Given the description of an element on the screen output the (x, y) to click on. 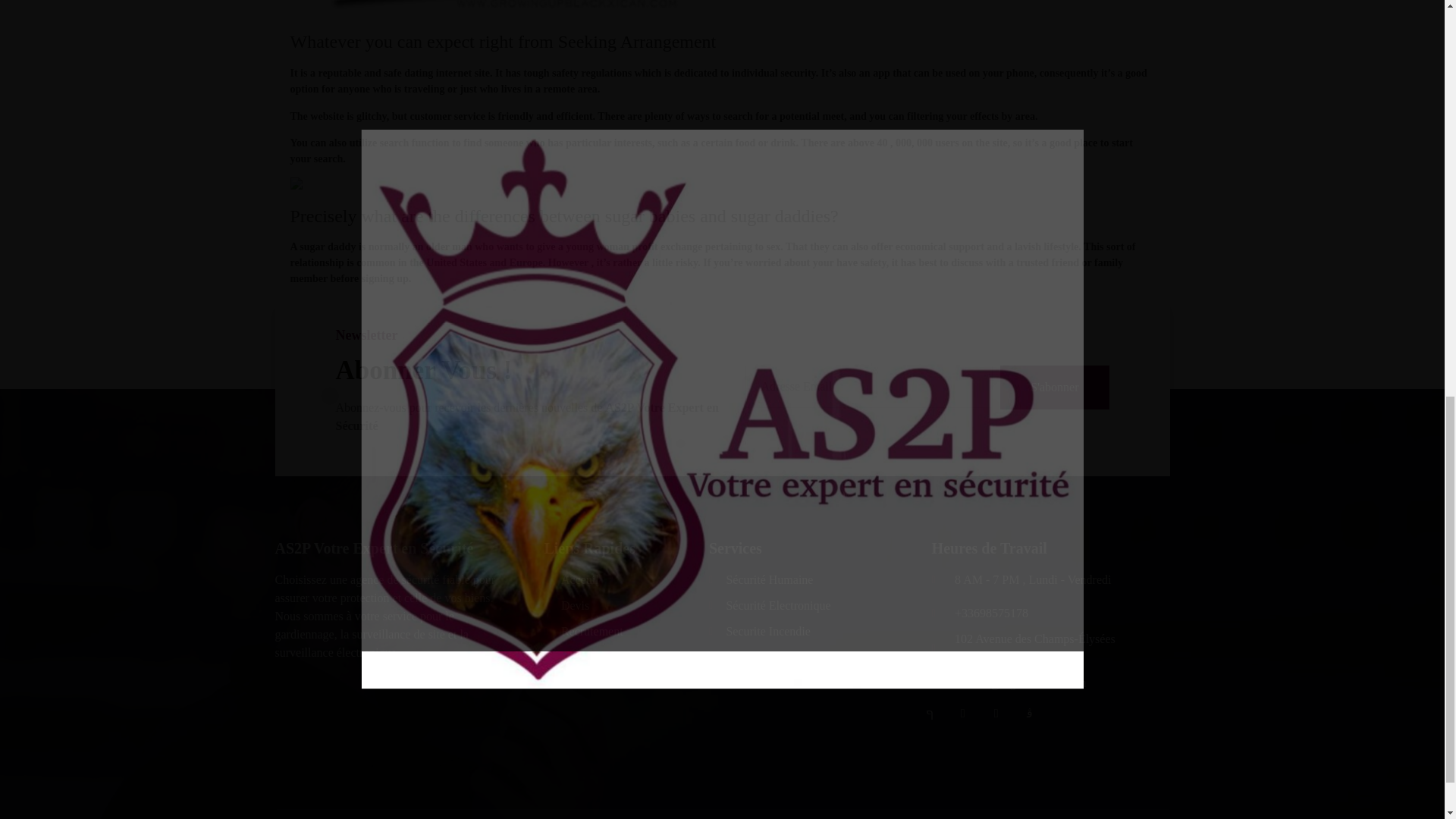
Securite Incendie (801, 631)
Devis (618, 606)
Video Surveillance (801, 657)
Recrutement (618, 631)
Acceuil (618, 579)
S'abonner (1054, 387)
Contact (618, 657)
